Given the description of an element on the screen output the (x, y) to click on. 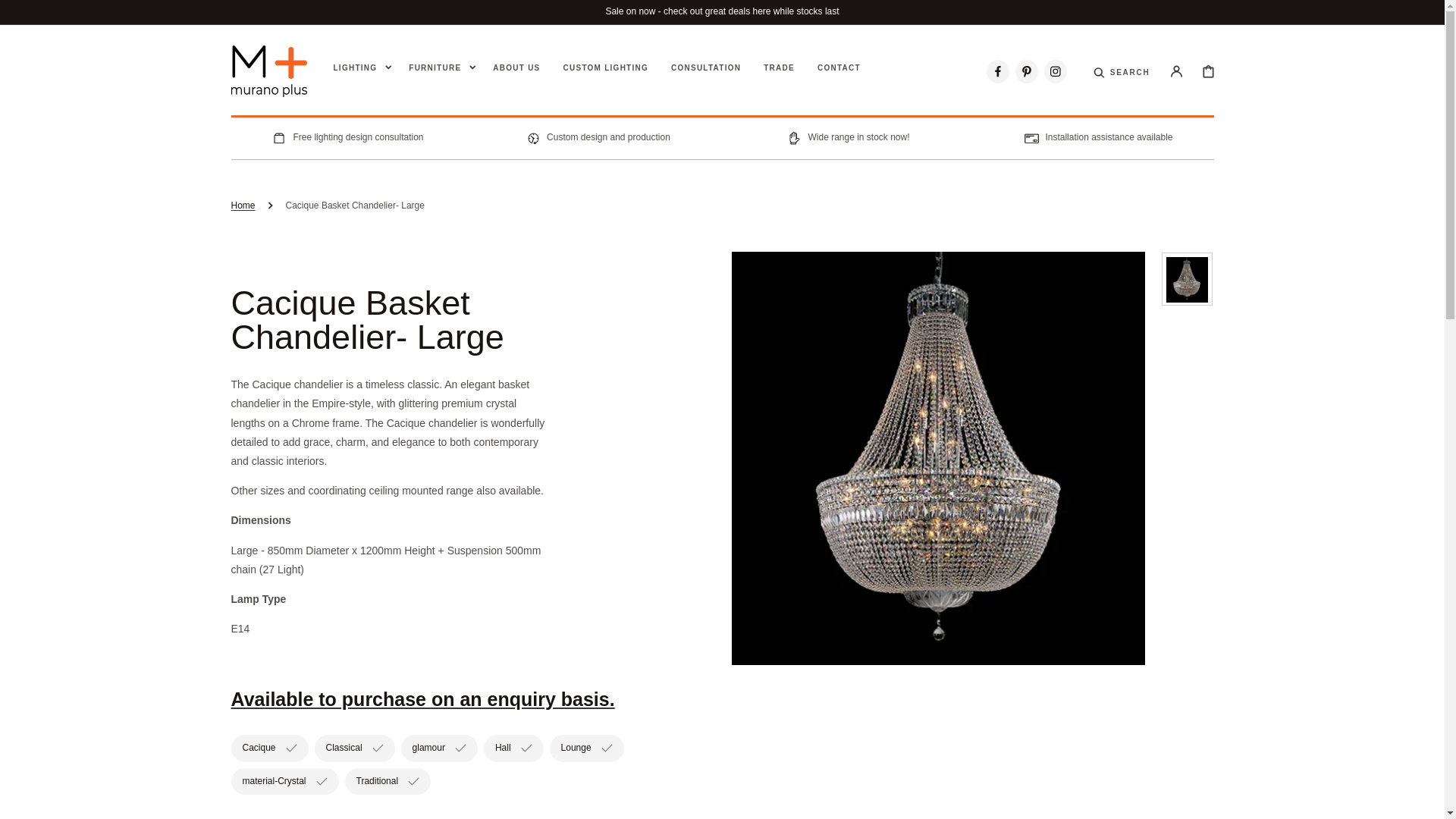
Consultation (706, 67)
Contact (838, 67)
Search (1129, 81)
Trade (778, 67)
About Us (516, 67)
Furniture (435, 67)
Custom Lighting (605, 67)
Lighting (355, 67)
Home (242, 205)
SKIP TO CONTENT (45, 14)
